Given the description of an element on the screen output the (x, y) to click on. 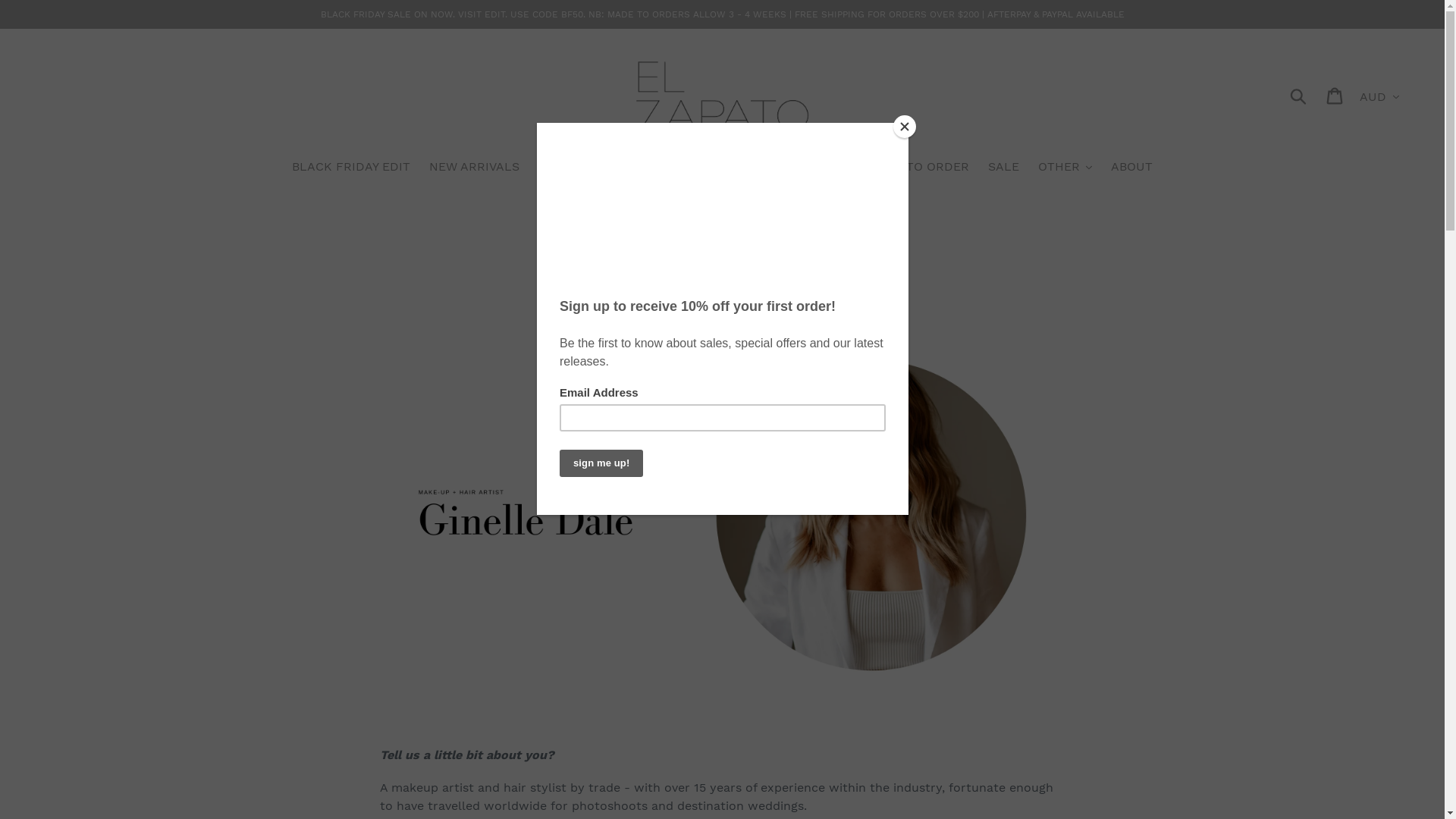
WINTER Element type: text (720, 167)
ACCESSORIES Element type: text (805, 167)
SALE Element type: text (1003, 167)
NEW ARRIVALS Element type: text (474, 167)
Cart Element type: text (1335, 95)
BLACK FRIDAY EDIT Element type: text (350, 167)
SPRING SUMMER 22-23 Element type: text (607, 167)
MADE TO ORDER Element type: text (917, 167)
Submit Element type: text (1298, 95)
ABOUT Element type: text (1131, 167)
